Given the description of an element on the screen output the (x, y) to click on. 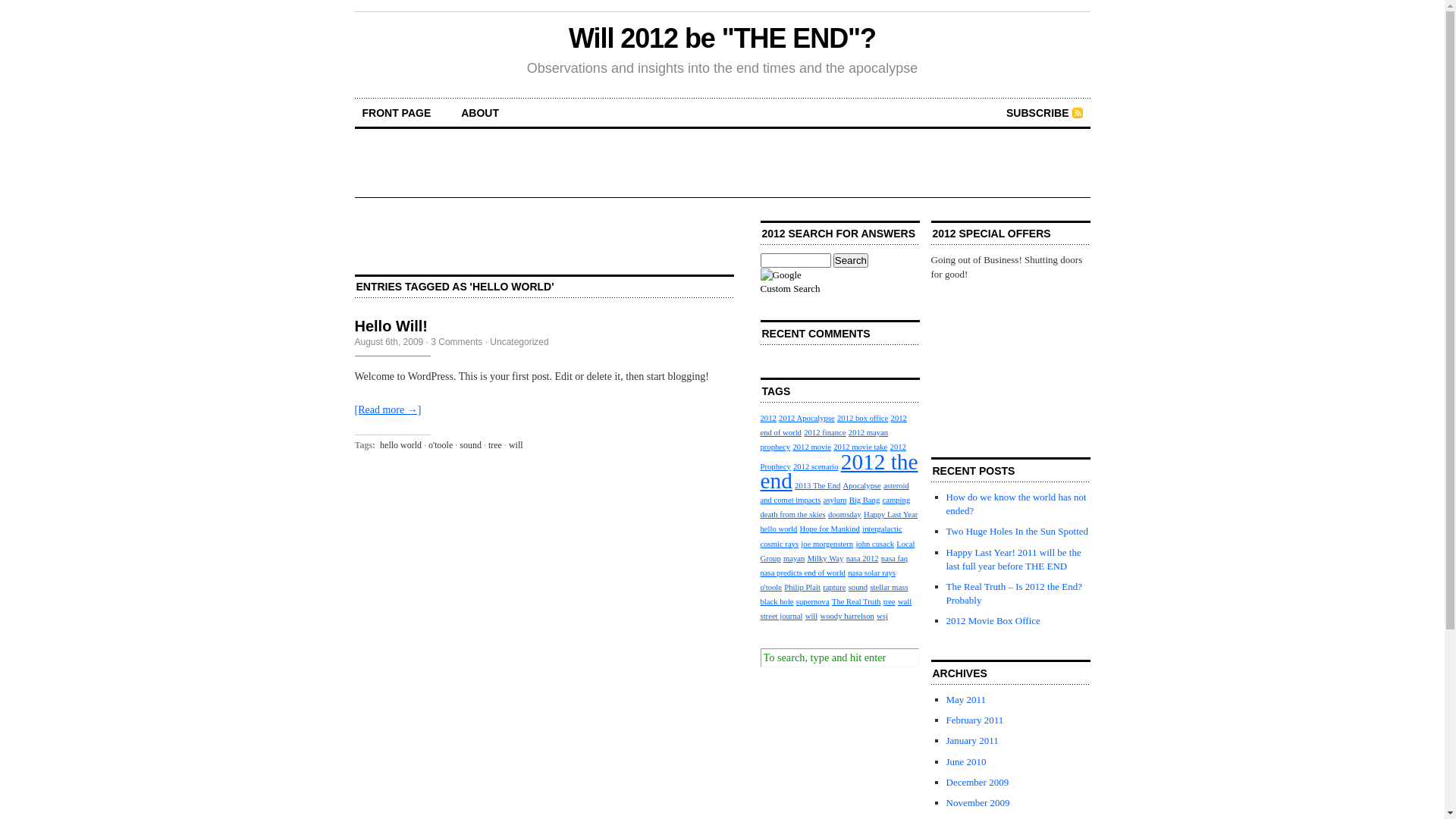
tree Element type: text (495, 444)
will Element type: text (515, 444)
How do we know the world has not ended? Element type: text (1016, 503)
tree Element type: text (889, 601)
The Real Truth Element type: text (856, 601)
SUBSCRIBE Element type: text (1044, 112)
doomsday Element type: text (844, 514)
2012 scenario Element type: text (815, 466)
Uncategorized Element type: text (518, 341)
mayan Element type: text (793, 558)
February 2011 Element type: text (975, 719)
death from the skies Element type: text (792, 514)
November 2009 Element type: text (978, 802)
2012 Movie Box Office Element type: text (993, 620)
2012 Element type: text (767, 418)
rapture Element type: text (833, 587)
Advertisement Element type: hover (1006, 357)
2012 movie Element type: text (811, 446)
Philip Plait Element type: text (802, 587)
ABOUT Element type: text (479, 112)
wall street journal Element type: text (835, 608)
supernova Element type: text (812, 601)
FRONT PAGE Element type: text (396, 112)
stellar mass black hole Element type: text (833, 594)
2012 movie take Element type: text (860, 446)
3 Comments Element type: text (456, 341)
camping Element type: text (896, 499)
sound Element type: text (857, 587)
Apocalypse Element type: text (862, 485)
Search Element type: text (850, 260)
o'toole Element type: text (770, 587)
nasa predicts end of world Element type: text (801, 572)
2012 Apocalypse Element type: text (806, 418)
Local Group Element type: text (836, 550)
June 2010 Element type: text (966, 761)
Two Huge Holes In the Sun Spotted Element type: text (1017, 530)
hello world Element type: text (778, 528)
wsj Element type: text (882, 615)
Milky Way Element type: text (825, 558)
December 2009 Element type: text (977, 781)
sound Element type: text (470, 444)
Big Bang Element type: text (864, 499)
May 2011 Element type: text (966, 699)
2012 finance Element type: text (824, 432)
nasa faq Element type: text (894, 558)
Advertisement Element type: hover (544, 243)
will Element type: text (811, 615)
Will 2012 be "THE END"? Element type: text (721, 37)
woody harrelson Element type: text (847, 615)
Hope for Mankind Element type: text (829, 528)
o'toole Element type: text (440, 444)
2012 end of world Element type: text (832, 425)
nasa 2012 Element type: text (862, 558)
Advertisement Element type: hover (721, 91)
hello world Element type: text (400, 444)
intergalactic cosmic rays Element type: text (830, 535)
2013 The End Element type: text (817, 485)
2012 mayan prophecy Element type: text (823, 439)
Happy Last Year Element type: text (890, 514)
joe morgenstern Element type: text (826, 543)
Advertisement Element type: hover (721, 162)
2012 the end Element type: text (838, 470)
2012 box office Element type: text (862, 418)
asylum Element type: text (835, 499)
asteroid and comet impacts Element type: text (833, 492)
nasa solar rays Element type: text (871, 572)
2012 Prophecy Element type: text (832, 456)
john cusack Element type: text (874, 543)
January 2011 Element type: text (972, 740)
Hello Will! Element type: text (390, 325)
